Given the description of an element on the screen output the (x, y) to click on. 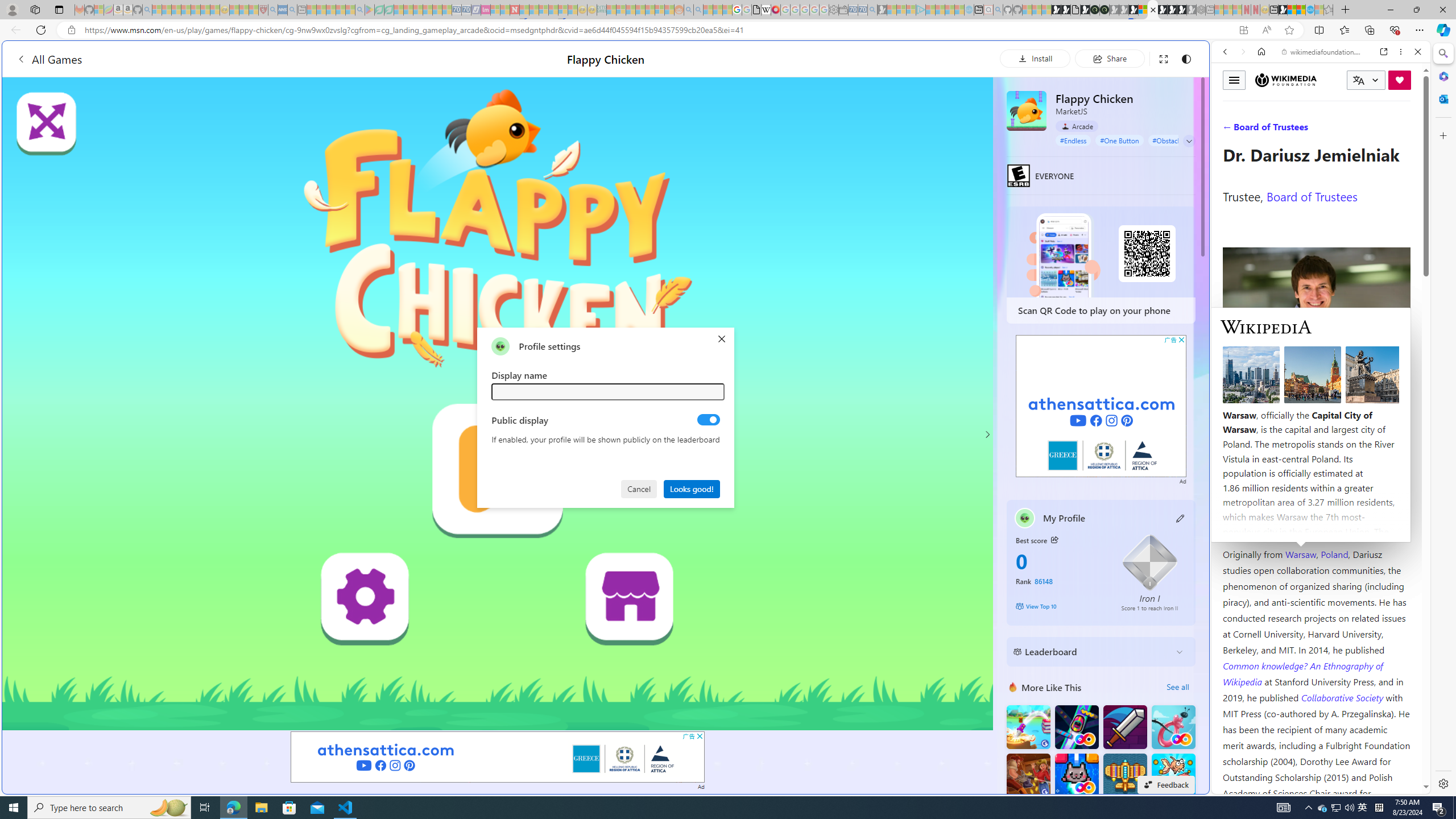
Read aloud this page (Ctrl+Shift+U) (1266, 29)
Common knowledge? An Ethnography of Wikipedia (1302, 672)
